Given the description of an element on the screen output the (x, y) to click on. 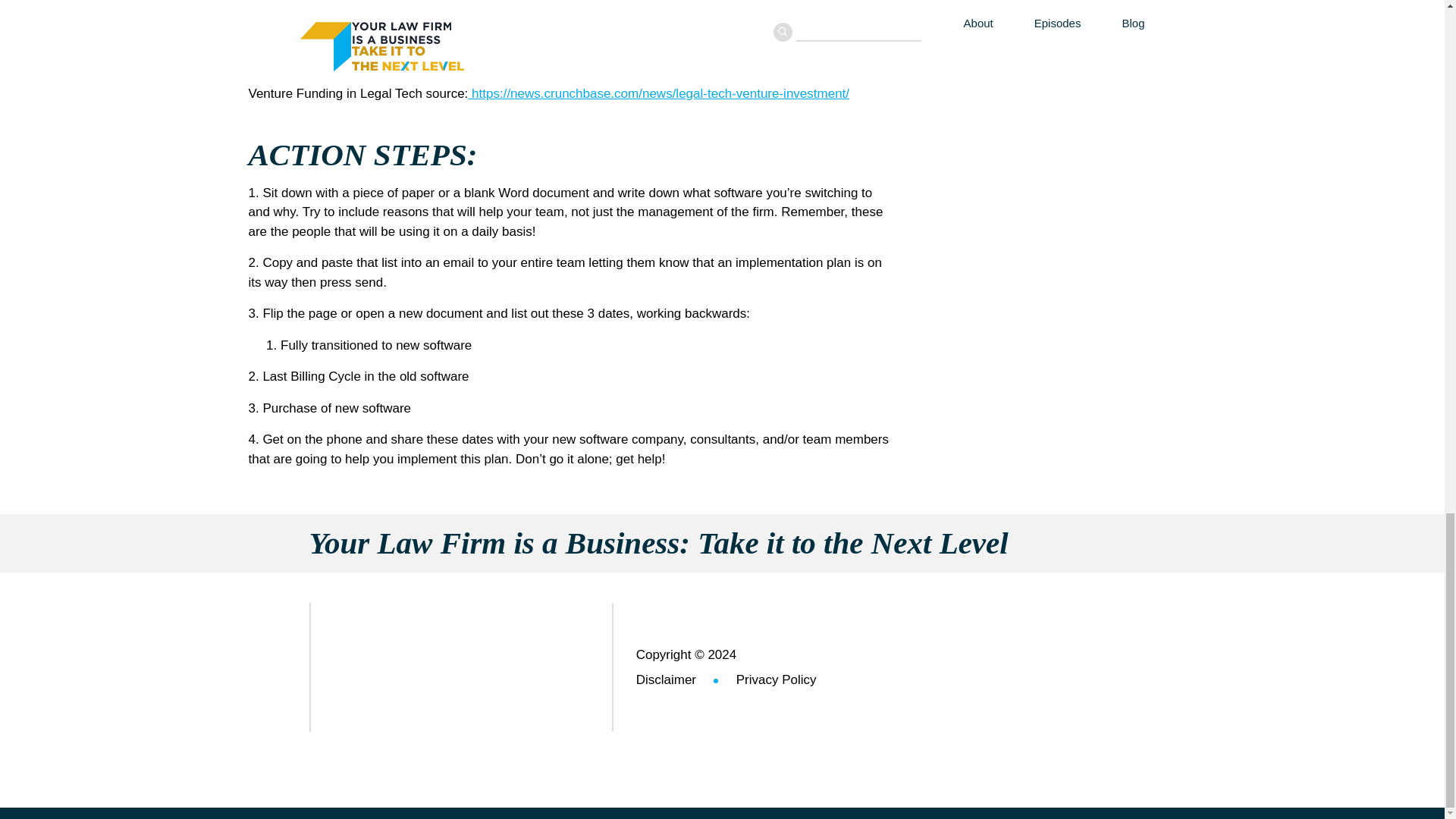
Your Law Firm is a Business: Take it to the Next Level (721, 543)
Privacy Policy (758, 676)
Disclaimer (665, 676)
